Given the description of an element on the screen output the (x, y) to click on. 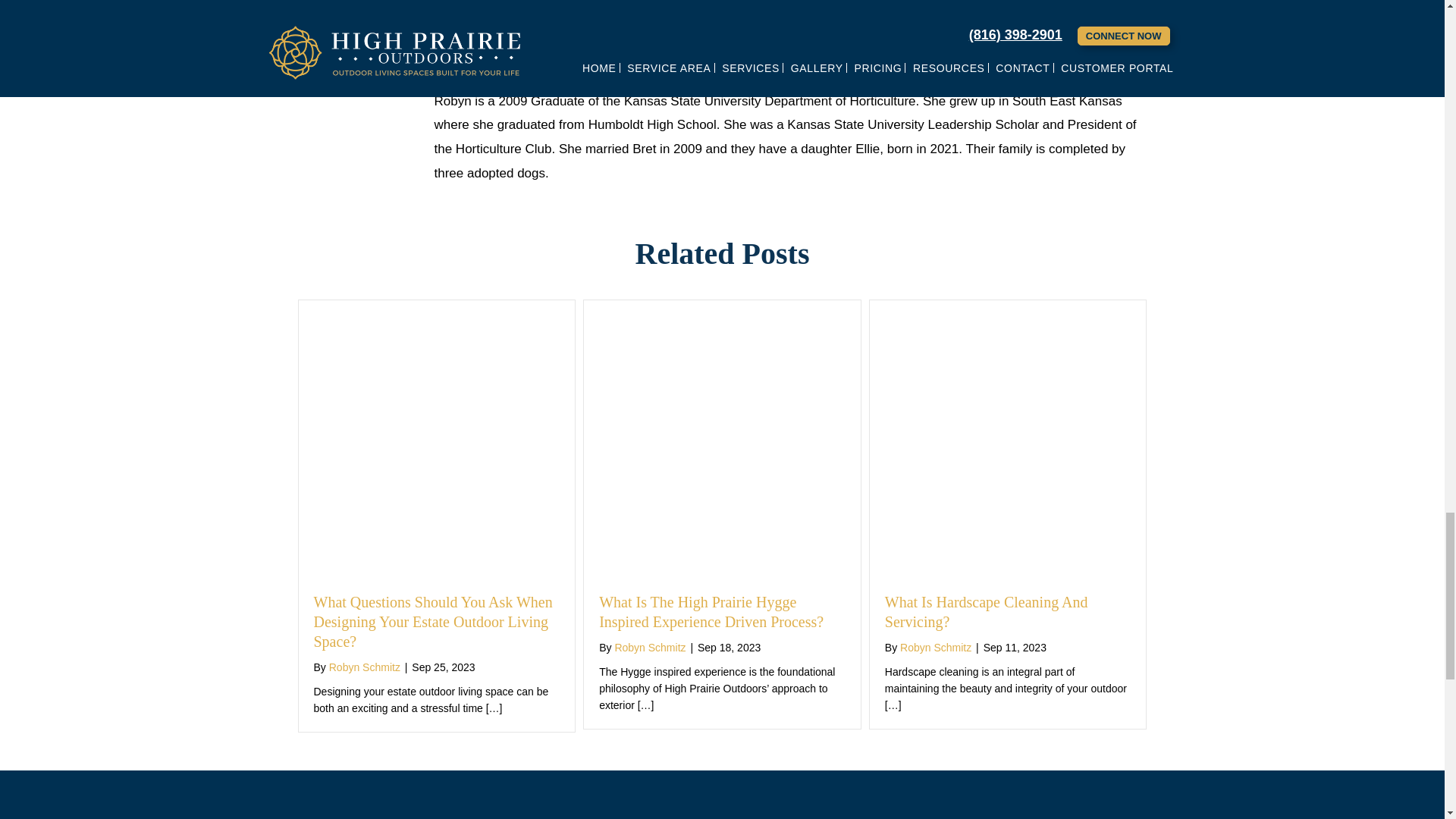
What is Hardscape Cleaning and Servicing? (1008, 311)
What is Hardscape Cleaning and Servicing? (986, 611)
